Given the description of an element on the screen output the (x, y) to click on. 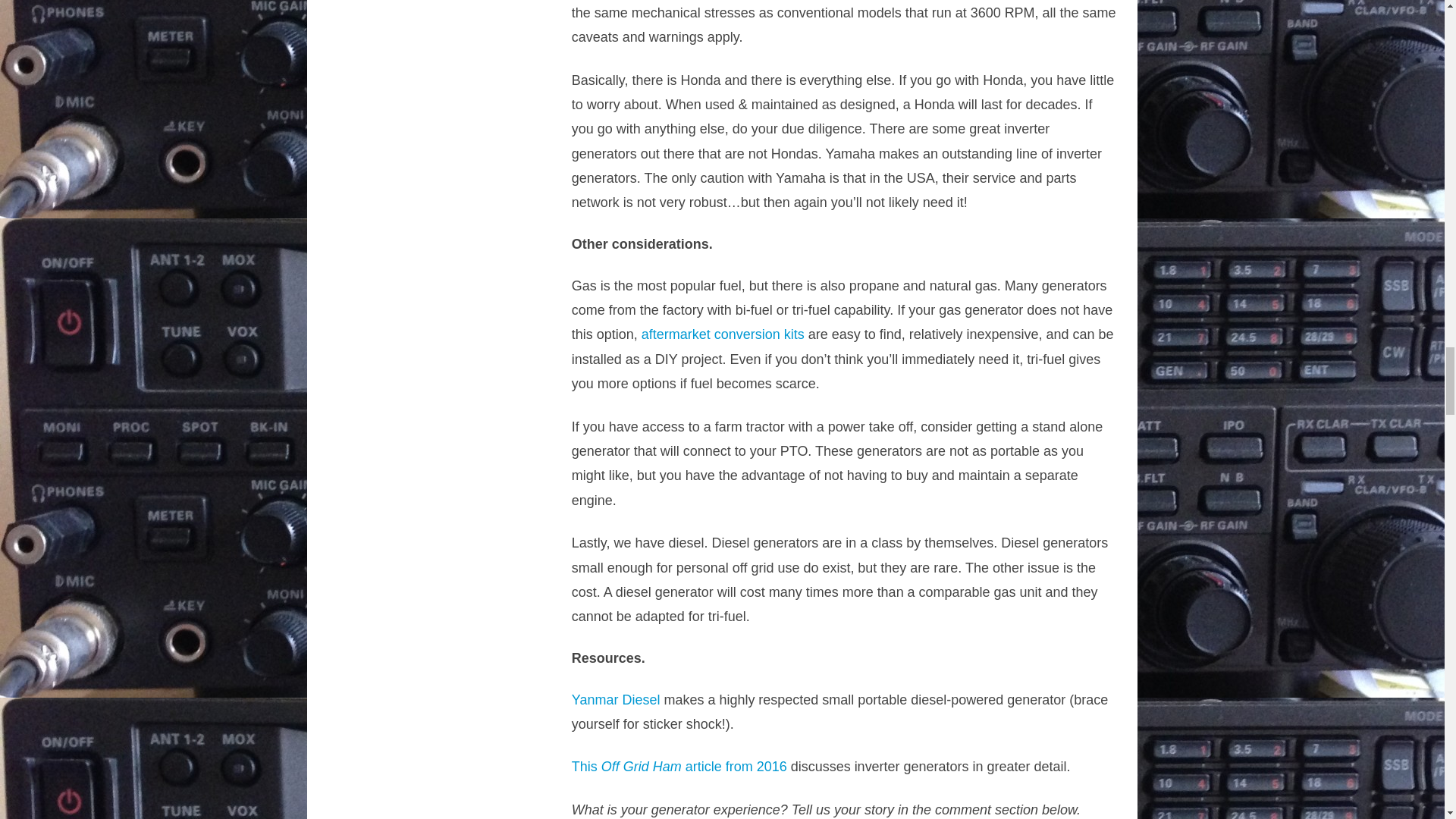
aftermarket conversion kits (723, 334)
Yanmar Diesel (616, 699)
This Off Grid Ham article from 2016 (679, 766)
